Given the description of an element on the screen output the (x, y) to click on. 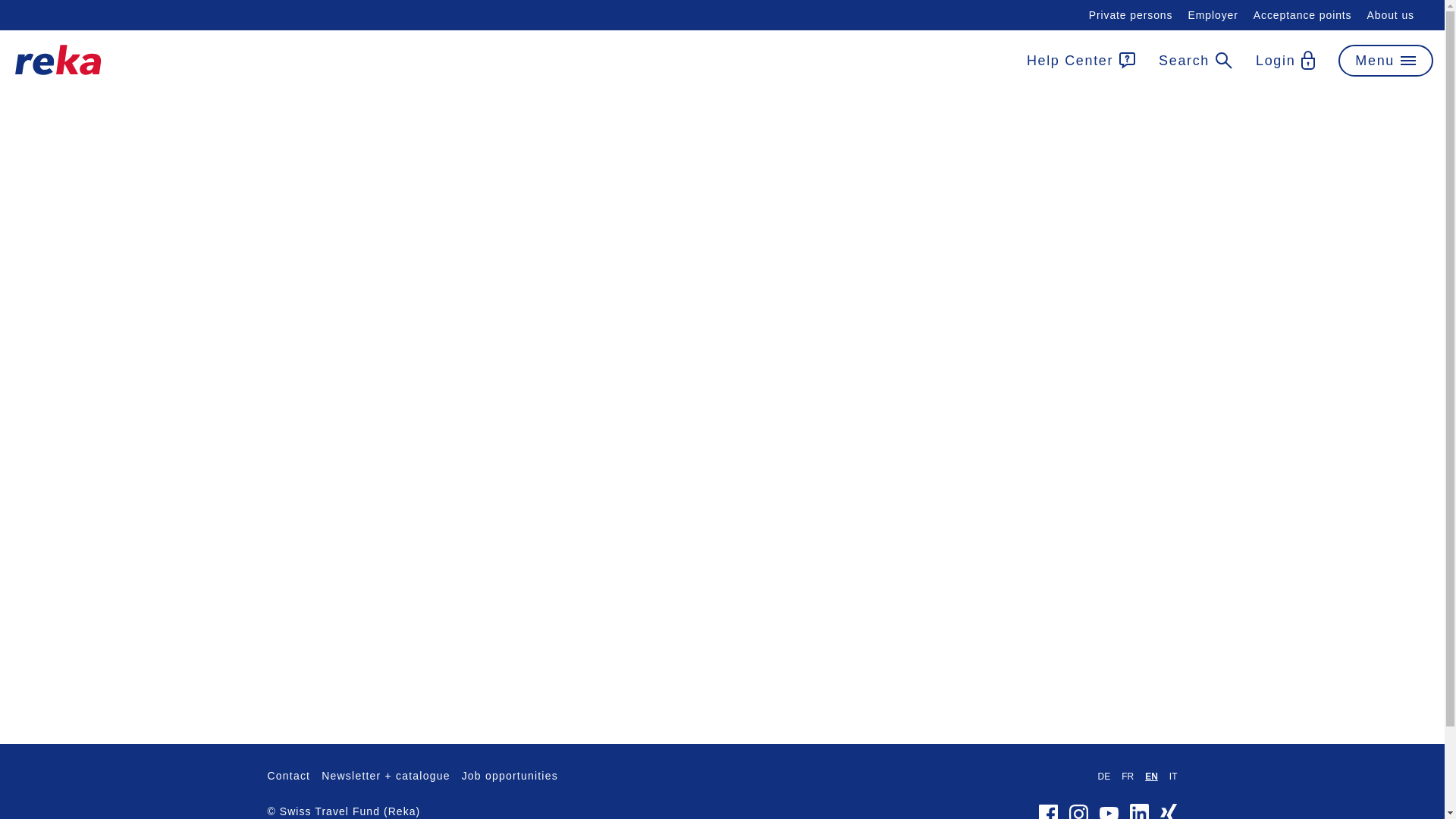
Employer (1212, 14)
Reka (57, 70)
Login (1285, 60)
Reka (57, 60)
EN (1150, 776)
Acceptance points (1302, 14)
DE (1103, 776)
About us (1390, 14)
Private persons (1131, 14)
Help Center (1080, 60)
